Given the description of an element on the screen output the (x, y) to click on. 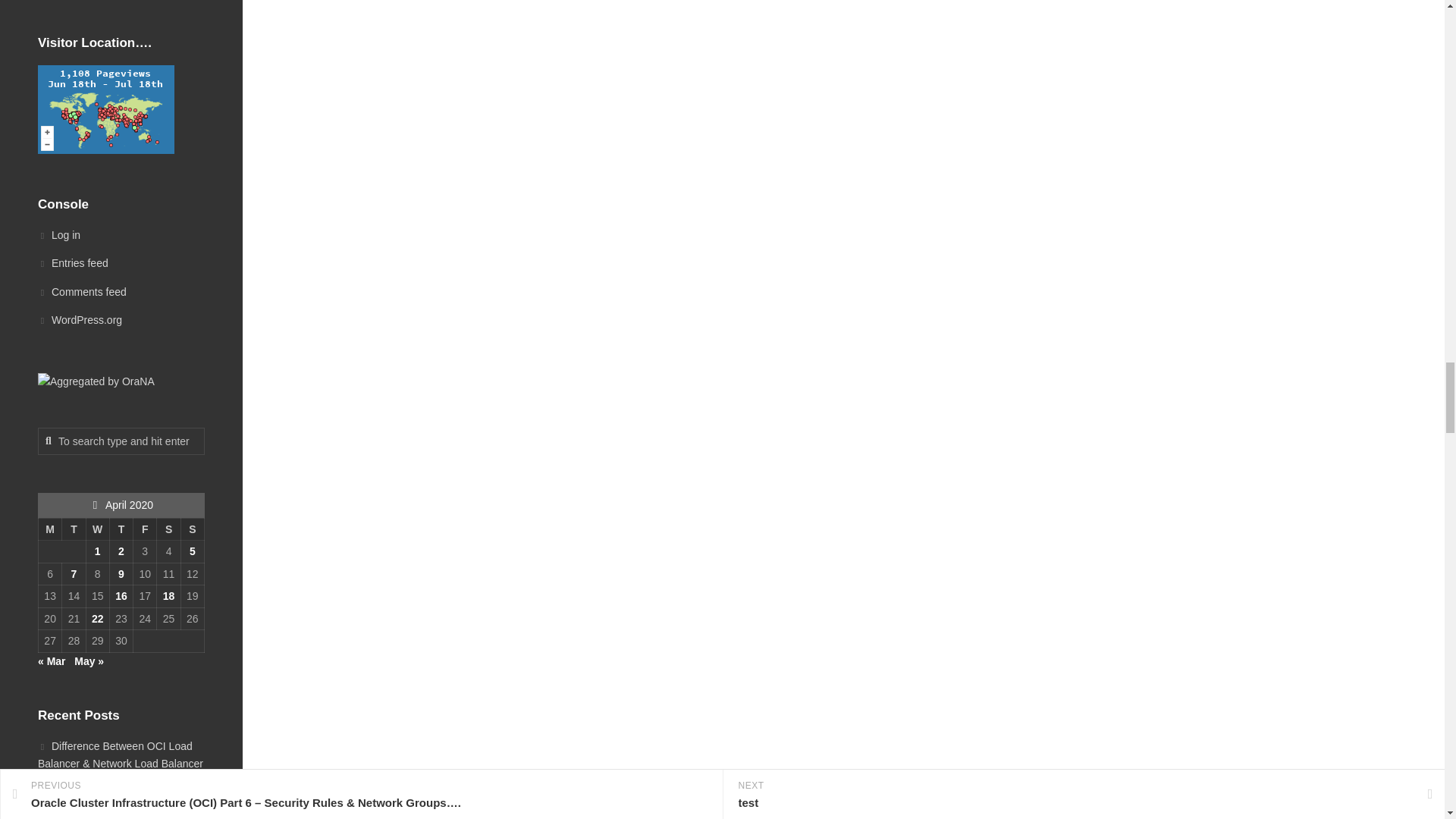
Locations of visitors to this page (105, 109)
Tuesday (73, 528)
To search type and hit enter (121, 441)
Aggregated by OraNA (95, 381)
Monday (49, 528)
To search type and hit enter (121, 441)
